Given the description of an element on the screen output the (x, y) to click on. 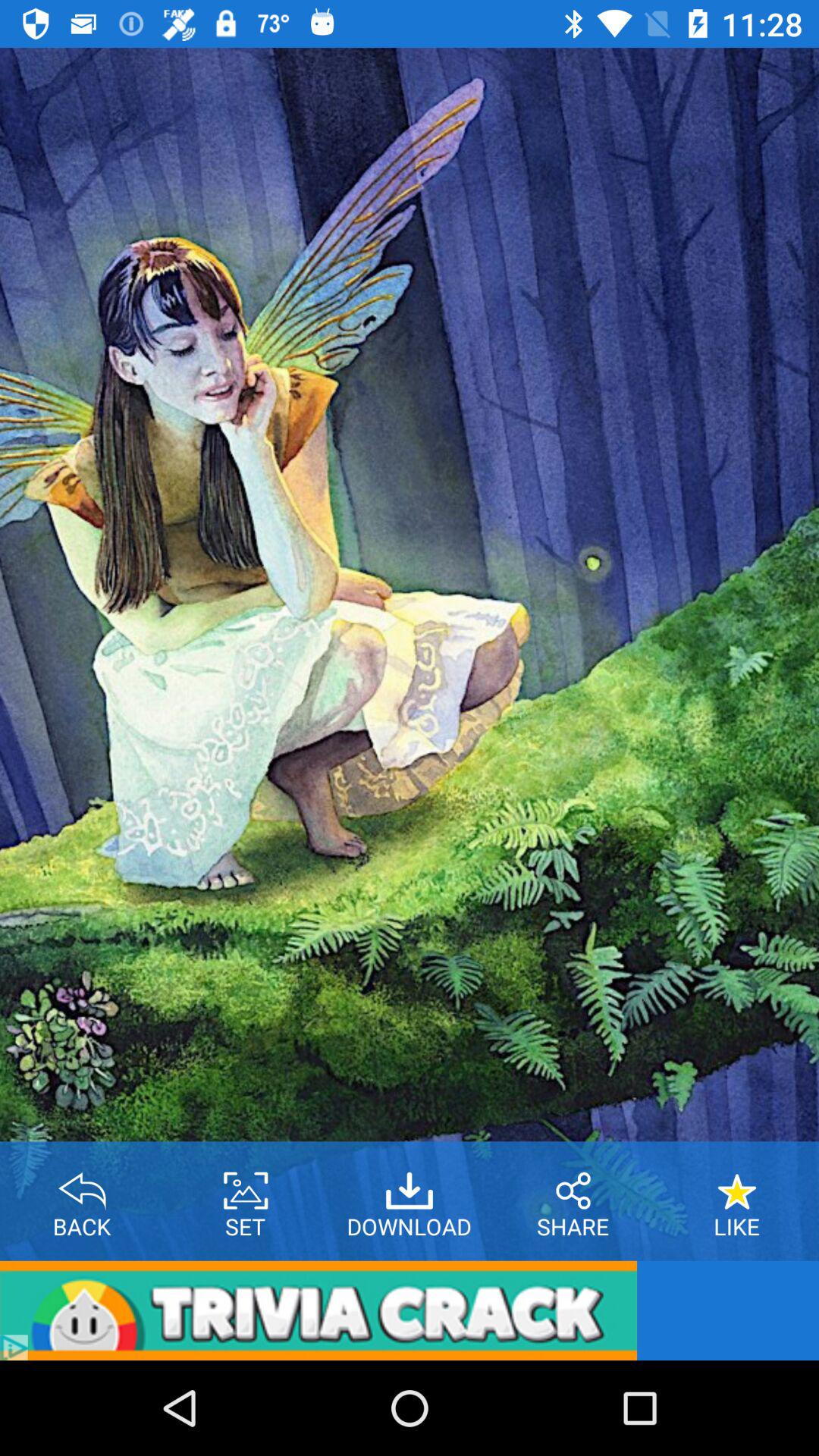
add to favorites (737, 1185)
